Given the description of an element on the screen output the (x, y) to click on. 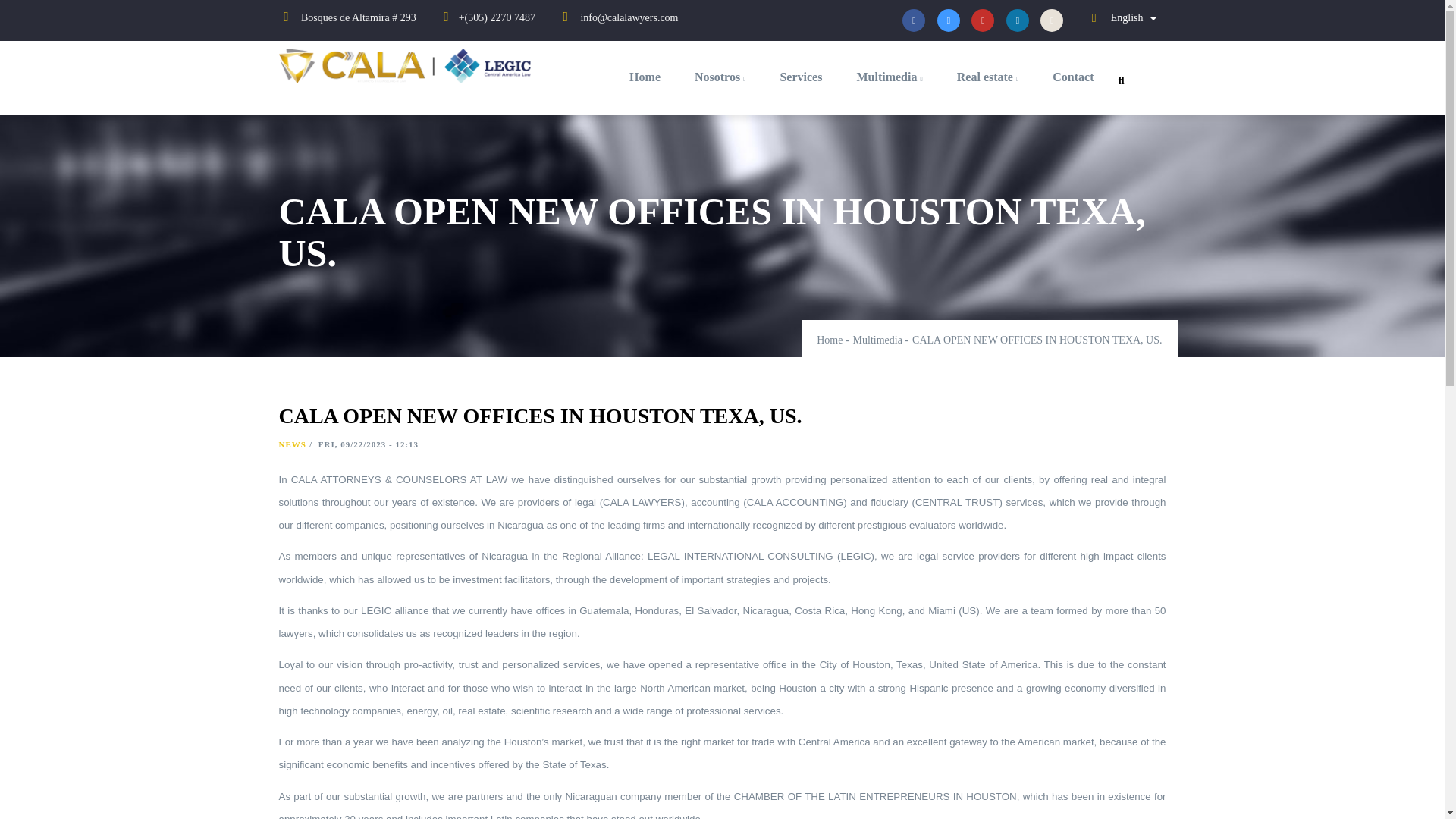
Services (800, 77)
Multimedia (889, 77)
Real estate (987, 77)
NEWS (292, 443)
Nosotros (719, 77)
Contact (1072, 77)
Home (409, 67)
Multimedia (877, 339)
Home (829, 339)
